Given the description of an element on the screen output the (x, y) to click on. 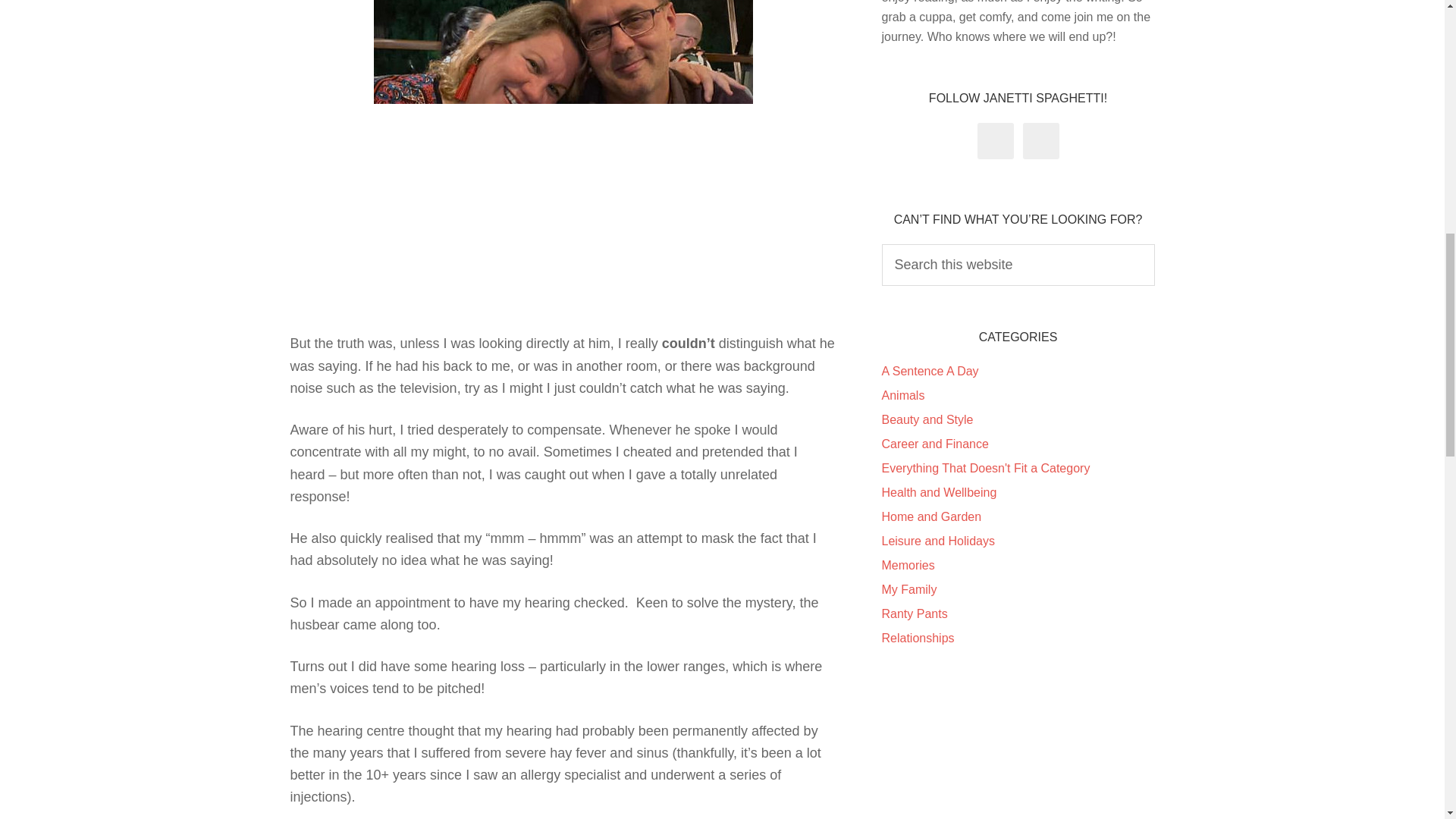
Home and Garden (930, 516)
My Family (908, 589)
A Sentence A Day (929, 370)
Leisure and Holidays (937, 540)
Memories (907, 564)
Everything That Doesn't Fit a Category (984, 468)
Beauty and Style (926, 419)
